Given the description of an element on the screen output the (x, y) to click on. 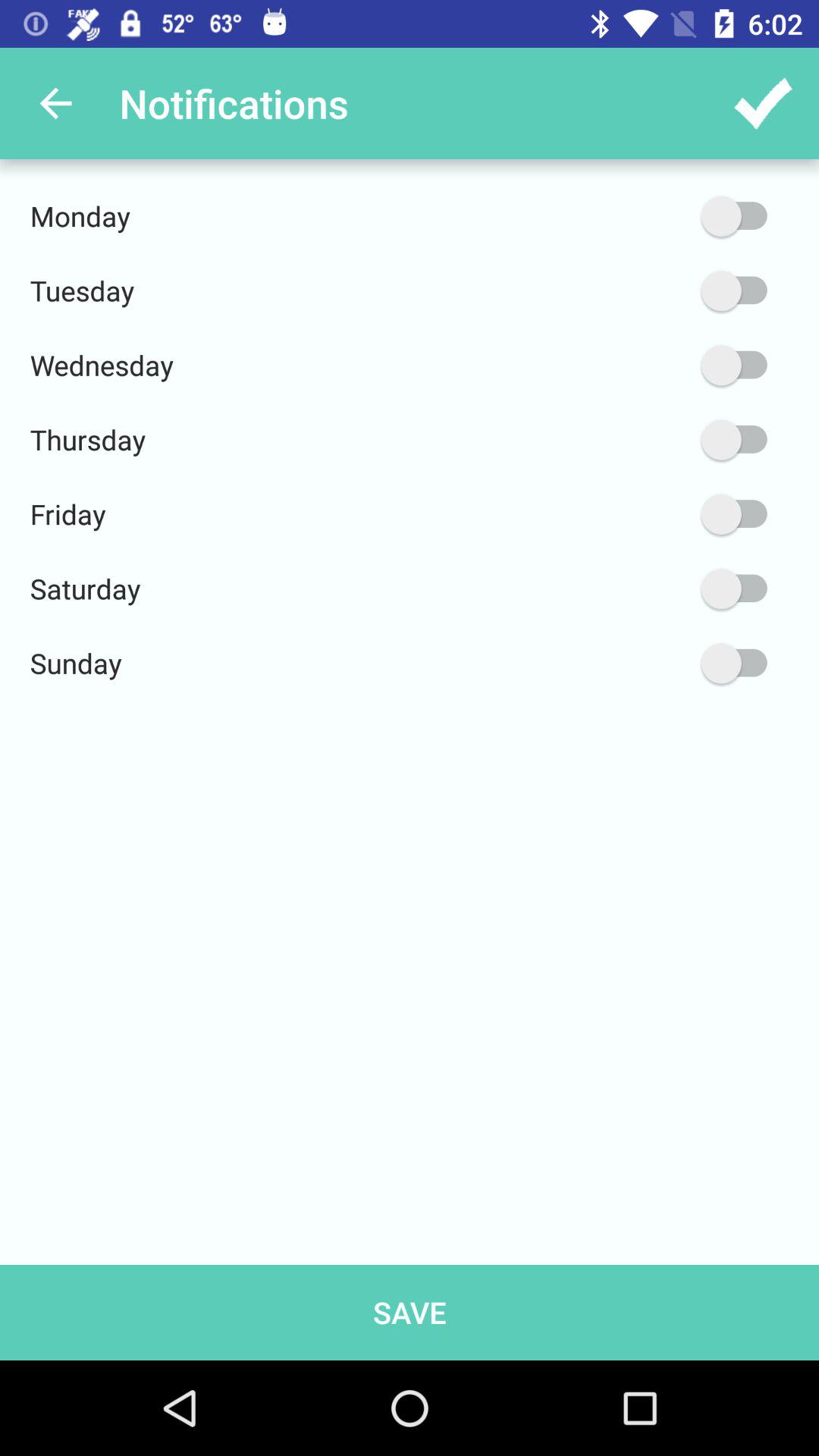
on or off button\ (661, 514)
